Given the description of an element on the screen output the (x, y) to click on. 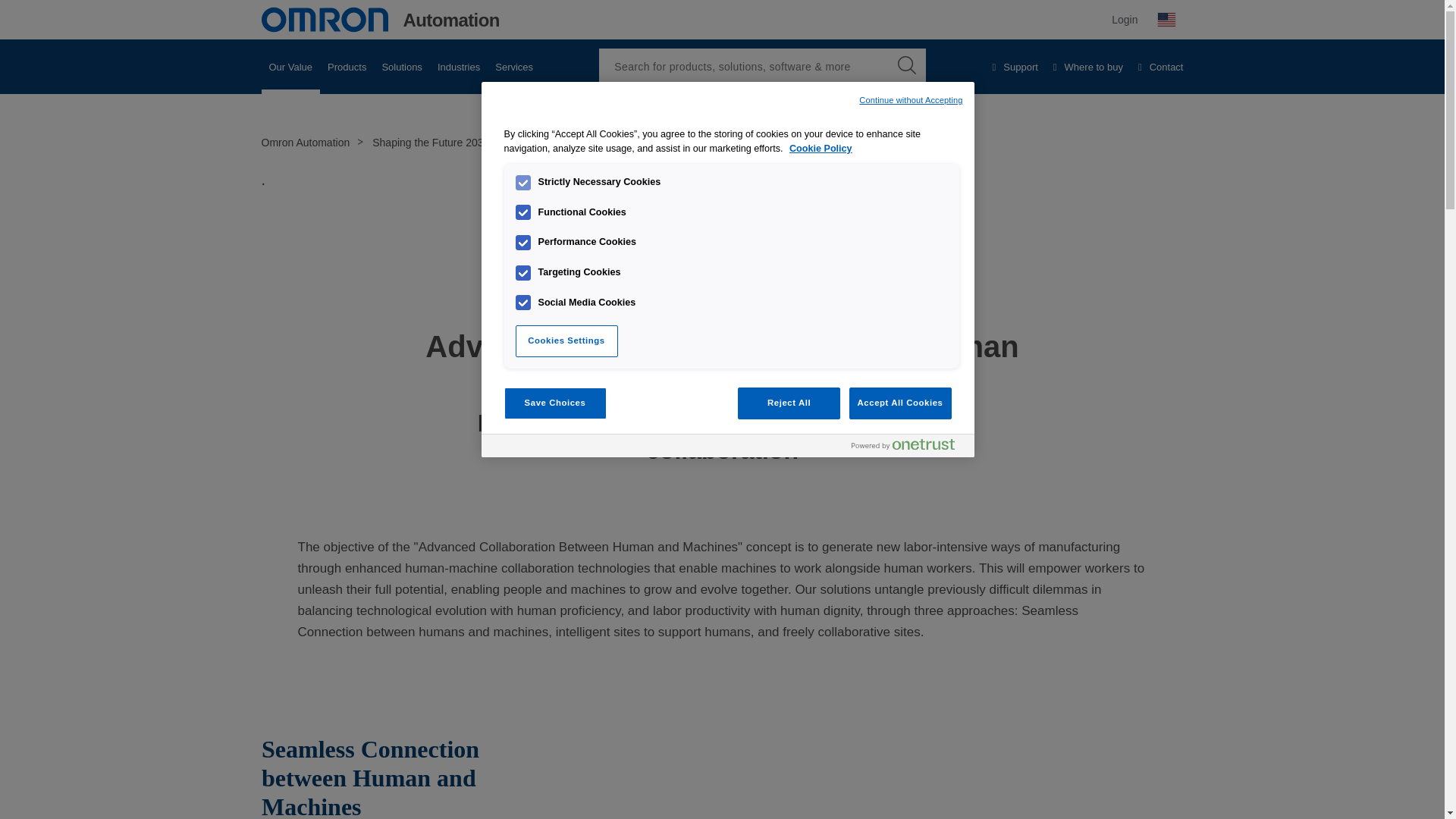
Our Value (290, 66)
Automation (379, 19)
Login (1124, 19)
Products (347, 66)
